Given the description of an element on the screen output the (x, y) to click on. 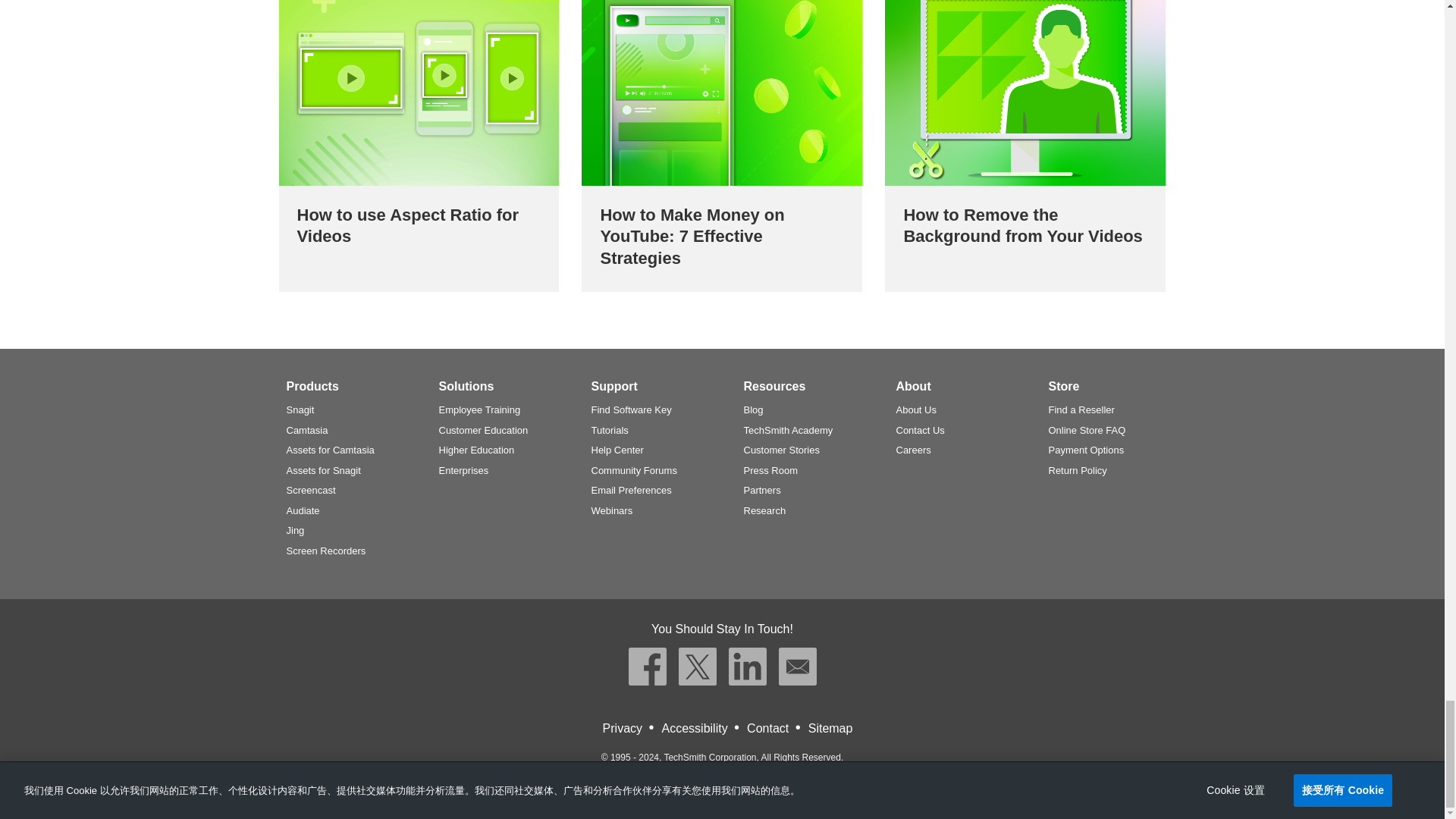
Get tips and news every month in your email inbox (796, 666)
Stay current on TechSmith news via LinkedIn (746, 666)
Get tips, news, and updates via Twitter (697, 666)
Get tips, news, and updates via Facebook (646, 666)
